Given the description of an element on the screen output the (x, y) to click on. 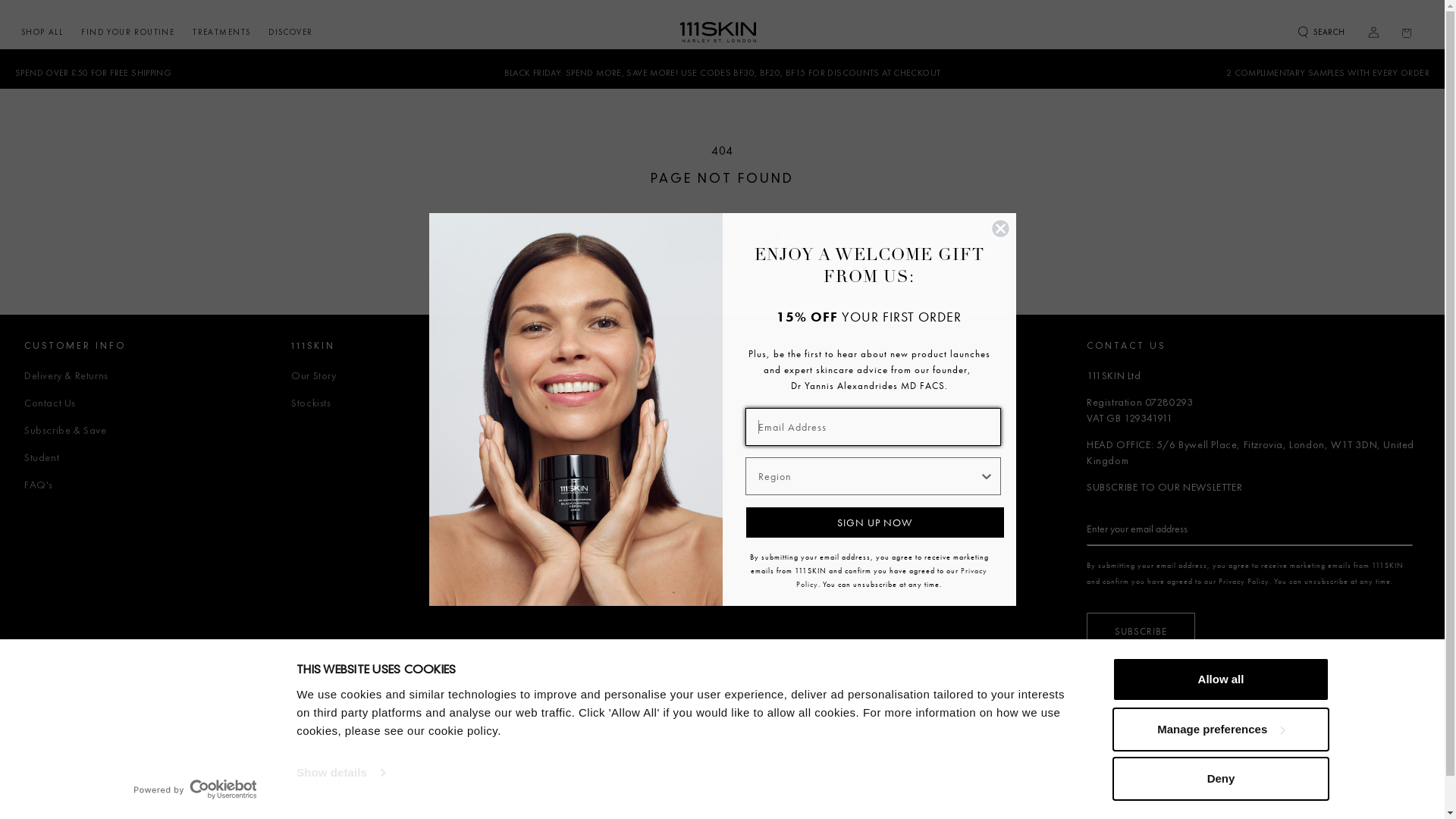
Show details Element type: text (340, 772)
Subscribe & Save Element type: text (65, 424)
Manage preferences Element type: text (1219, 728)
SHOP ALL Element type: text (42, 31)
Cookie Policy Element type: text (691, 760)
Cart Element type: text (1406, 31)
Twitter Element type: text (1269, 758)
Payment Element type: text (773, 760)
FAQ's Element type: text (38, 478)
YouTube Element type: text (1403, 758)
Privacy Policy Element type: text (891, 577)
111SKIN Element type: text (402, 761)
SUBSCRIBE Element type: text (1140, 630)
Our Mission Element type: text (586, 375)
Allow all Element type: text (1219, 679)
Philanthropy Element type: text (587, 397)
Facebook Element type: text (1303, 758)
Delivery & Returns Element type: text (66, 375)
2 COMPLIMENTARY SAMPLES WITH EVERY ORDER Element type: text (1327, 67)
Contact Us Element type: text (49, 397)
Pinterest Element type: text (1336, 758)
Stockists Element type: text (310, 397)
111SKIN Element type: hover (574, 409)
Submit Element type: text (15, 7)
Continue shopping Element type: text (722, 243)
Privacy Policy Element type: text (1243, 581)
FIND YOUR ROUTINE Element type: text (127, 31)
SIGN UP NOW Element type: text (874, 522)
TREATMENTS Element type: text (221, 31)
Our Story Element type: text (313, 375)
Key Ingredients Element type: text (593, 424)
Deny Element type: text (1219, 778)
Terms & Conditions Element type: text (493, 760)
Student Element type: text (41, 451)
Instagram Element type: text (1369, 758)
DISCOVER Element type: text (290, 31)
Log in Element type: text (1373, 31)
Close dialog 3 Element type: text (999, 228)
Privacy Policy Element type: text (599, 760)
